Given the description of an element on the screen output the (x, y) to click on. 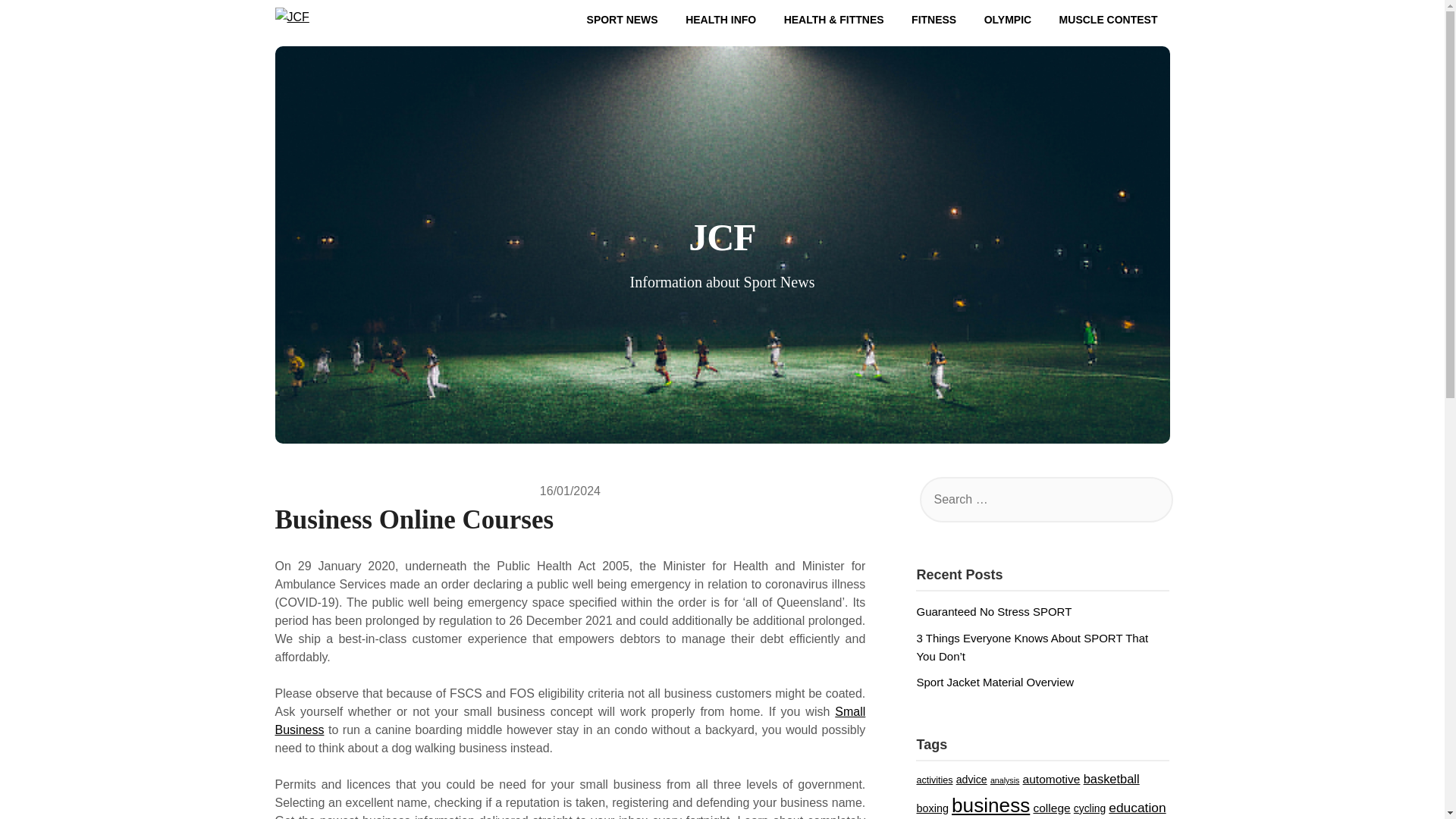
SPORT NEWS (622, 20)
FITNESS (933, 20)
business (990, 804)
HEALTH INFO (720, 20)
Search (38, 22)
Sport Jacket Material Overview (994, 681)
OLYMPIC (1007, 20)
education (1137, 807)
cycling (1089, 808)
MUSCLE CONTEST (1108, 20)
